Given the description of an element on the screen output the (x, y) to click on. 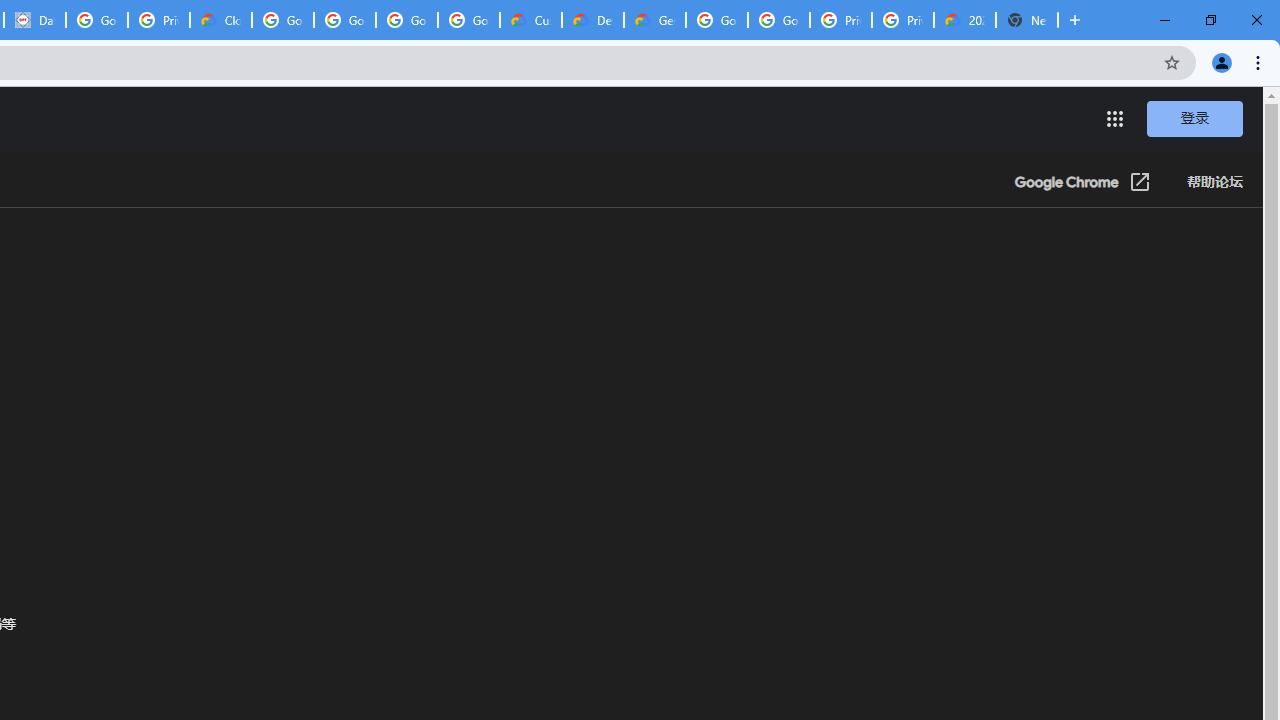
Cloud Data Processing Addendum | Google Cloud (220, 20)
Customer Care | Google Cloud (530, 20)
New Tab (1026, 20)
Google Workspace - Specific Terms (406, 20)
Google Cloud Platform (778, 20)
